Given the description of an element on the screen output the (x, y) to click on. 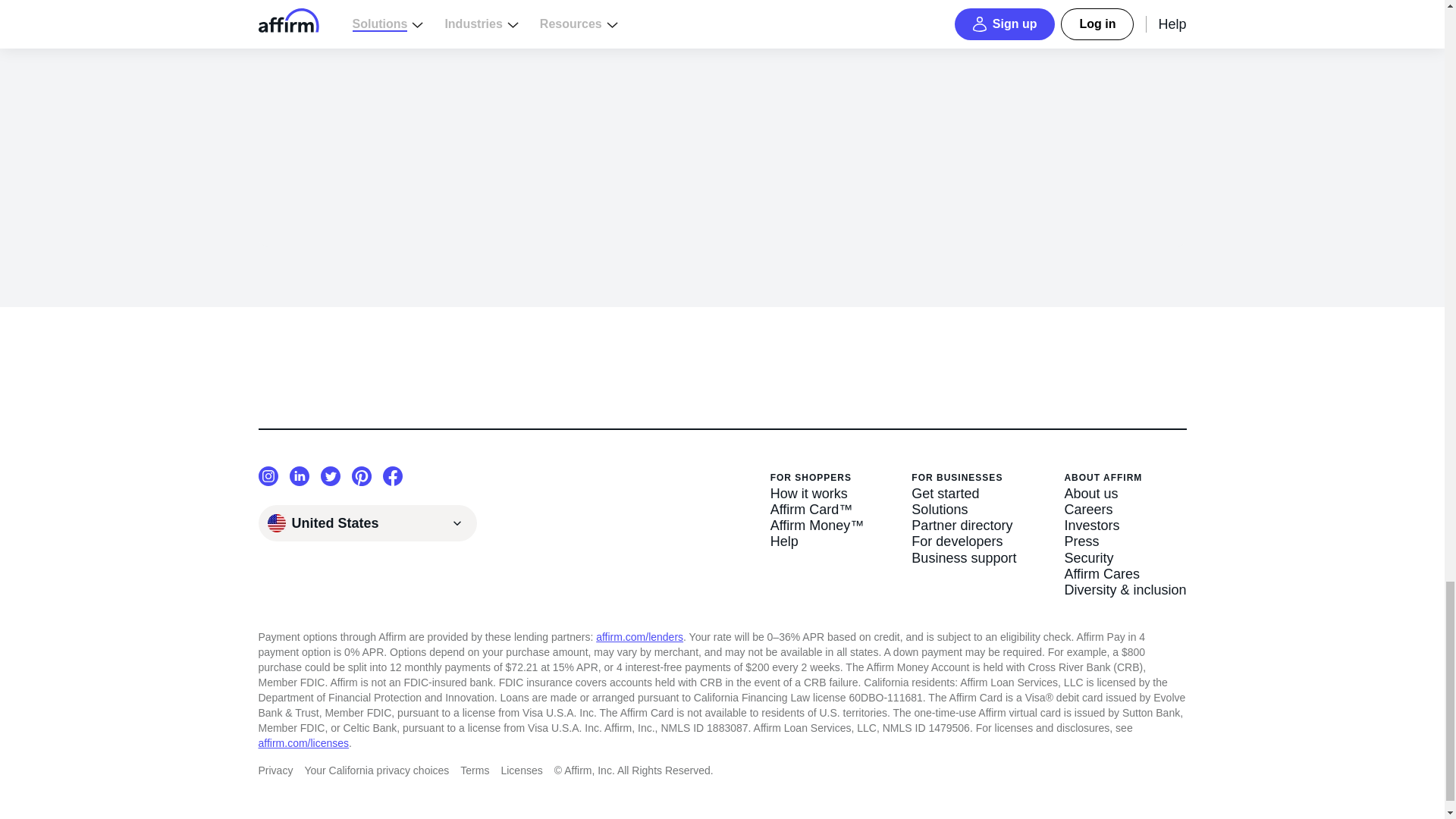
Careers (1125, 509)
Press (1125, 541)
How it works (817, 494)
Business support (963, 558)
About us (1125, 494)
Partner directory (963, 525)
Get started (963, 494)
For developers (963, 541)
Affirm Cares (1125, 574)
Solutions (963, 509)
